Given the description of an element on the screen output the (x, y) to click on. 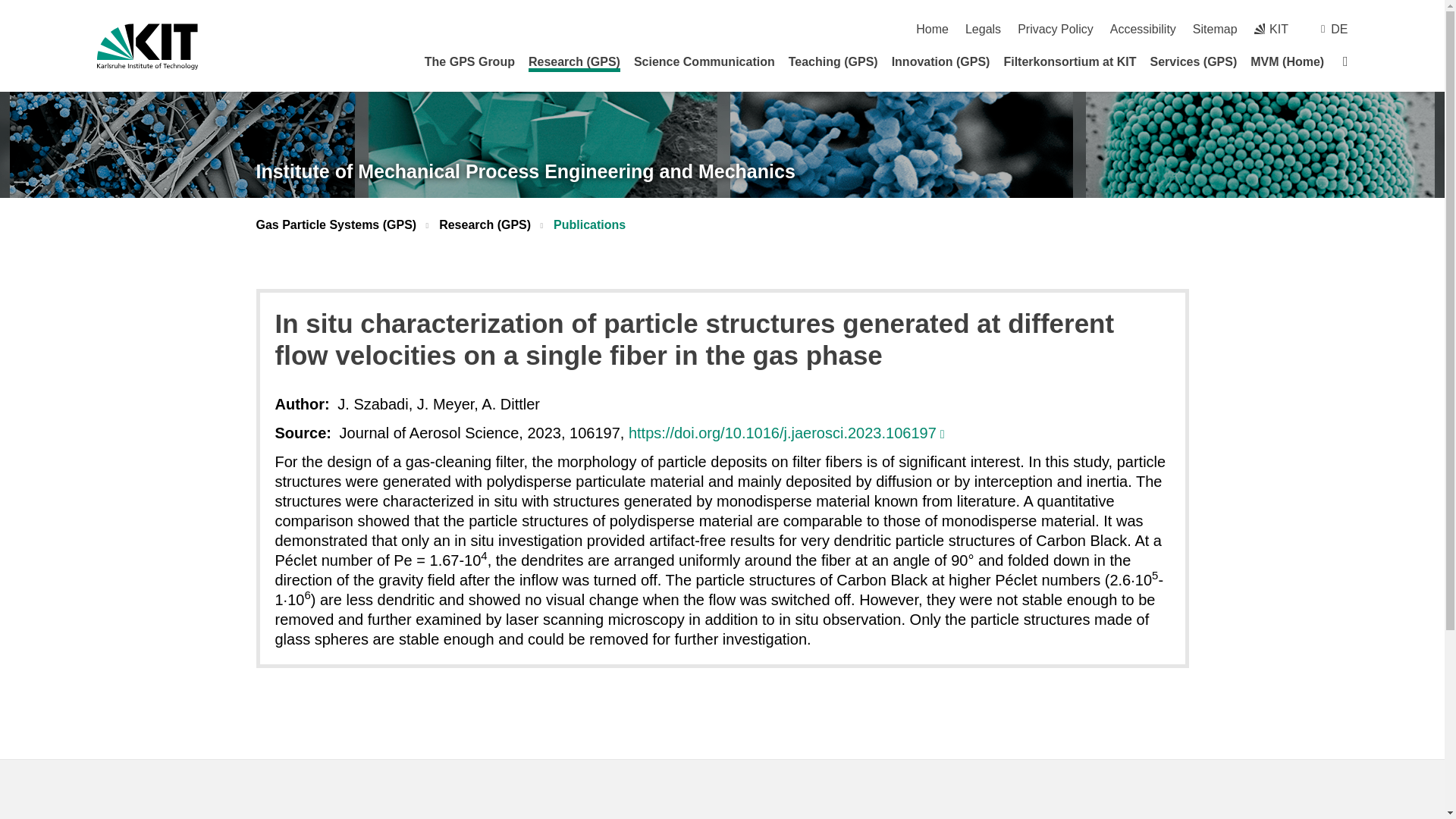
Legals (983, 29)
Science Communication (703, 61)
KIT-Homepage (147, 46)
Sitemap (1214, 29)
Accessibility (1142, 29)
KIT (1270, 29)
DE (1339, 29)
KIT-Homepage (1270, 29)
startpage (932, 29)
